Given the description of an element on the screen output the (x, y) to click on. 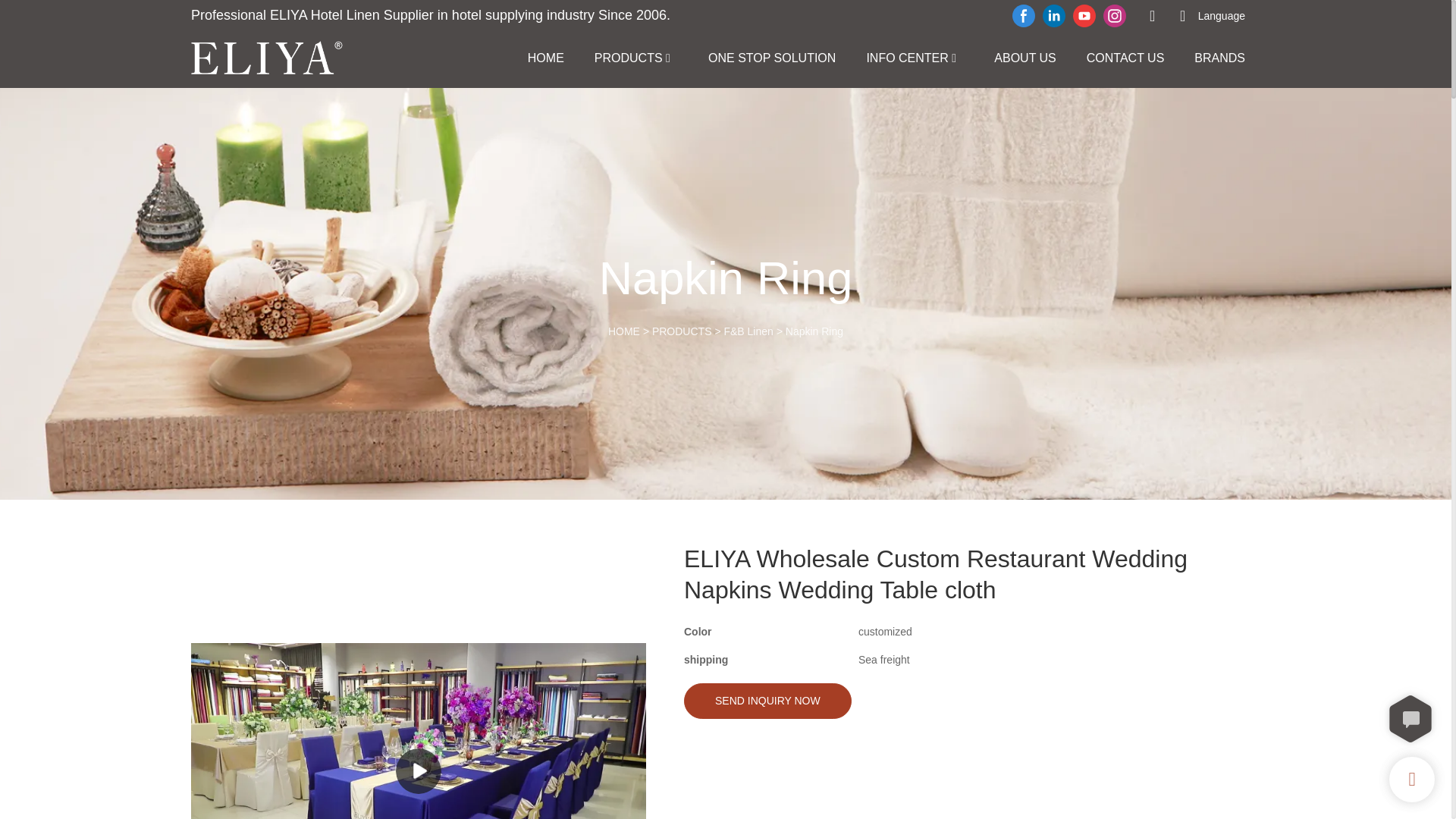
CONTACT US (1125, 57)
PRODUCTS (628, 57)
PRODUCTS (681, 331)
facebook (1024, 15)
Napkin Ring (814, 331)
linkedin (1053, 15)
youtube (1083, 15)
HOME (624, 331)
ABOUT US (1025, 57)
ONE STOP SOLUTION (771, 57)
instagram (1114, 15)
INFO CENTER (906, 57)
BRANDS (1218, 57)
HOME (545, 57)
